Given the description of an element on the screen output the (x, y) to click on. 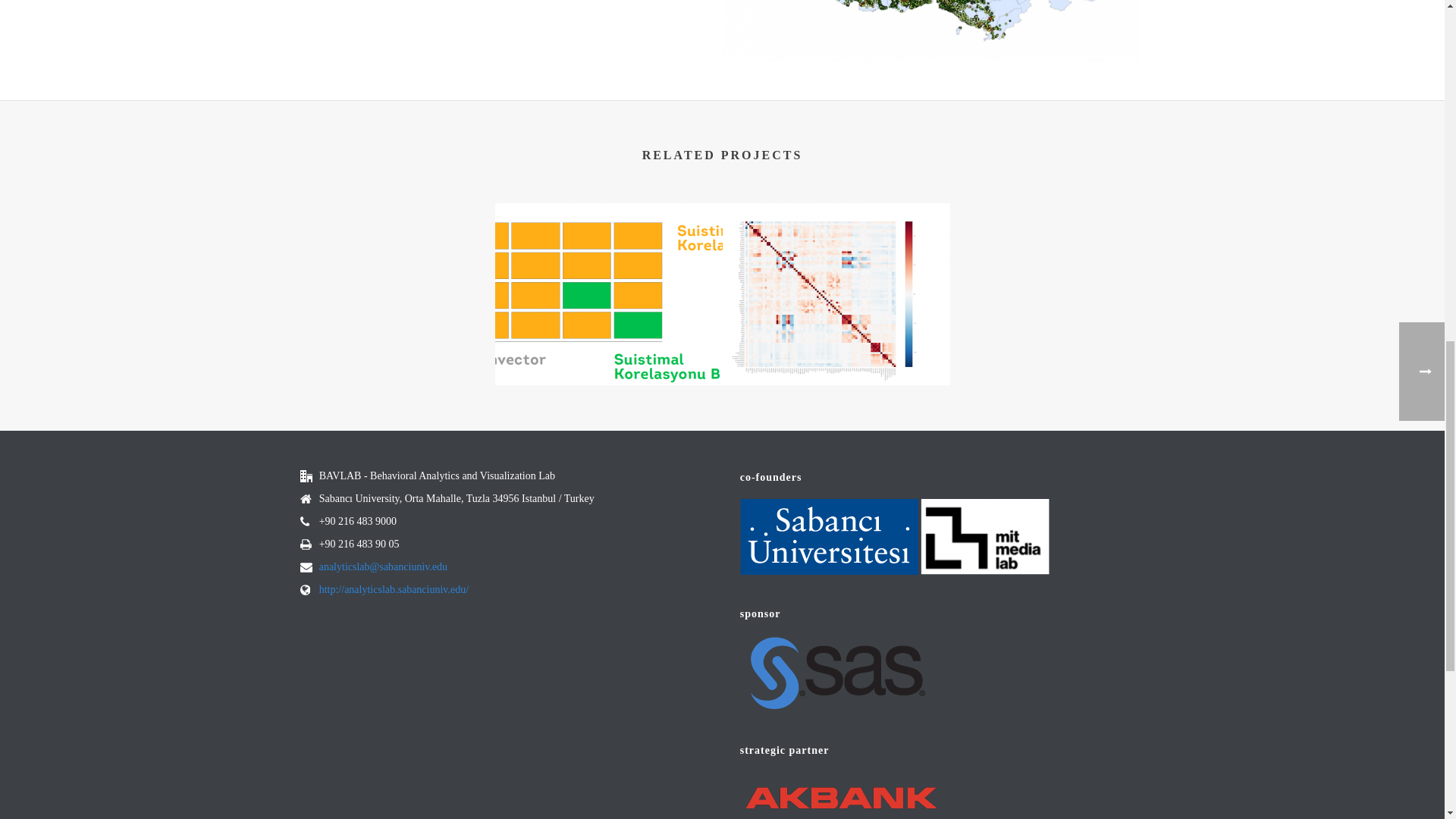
Customer Churn Analysis (835, 293)
SBM  Insurance Fraud Project (608, 293)
